Given the description of an element on the screen output the (x, y) to click on. 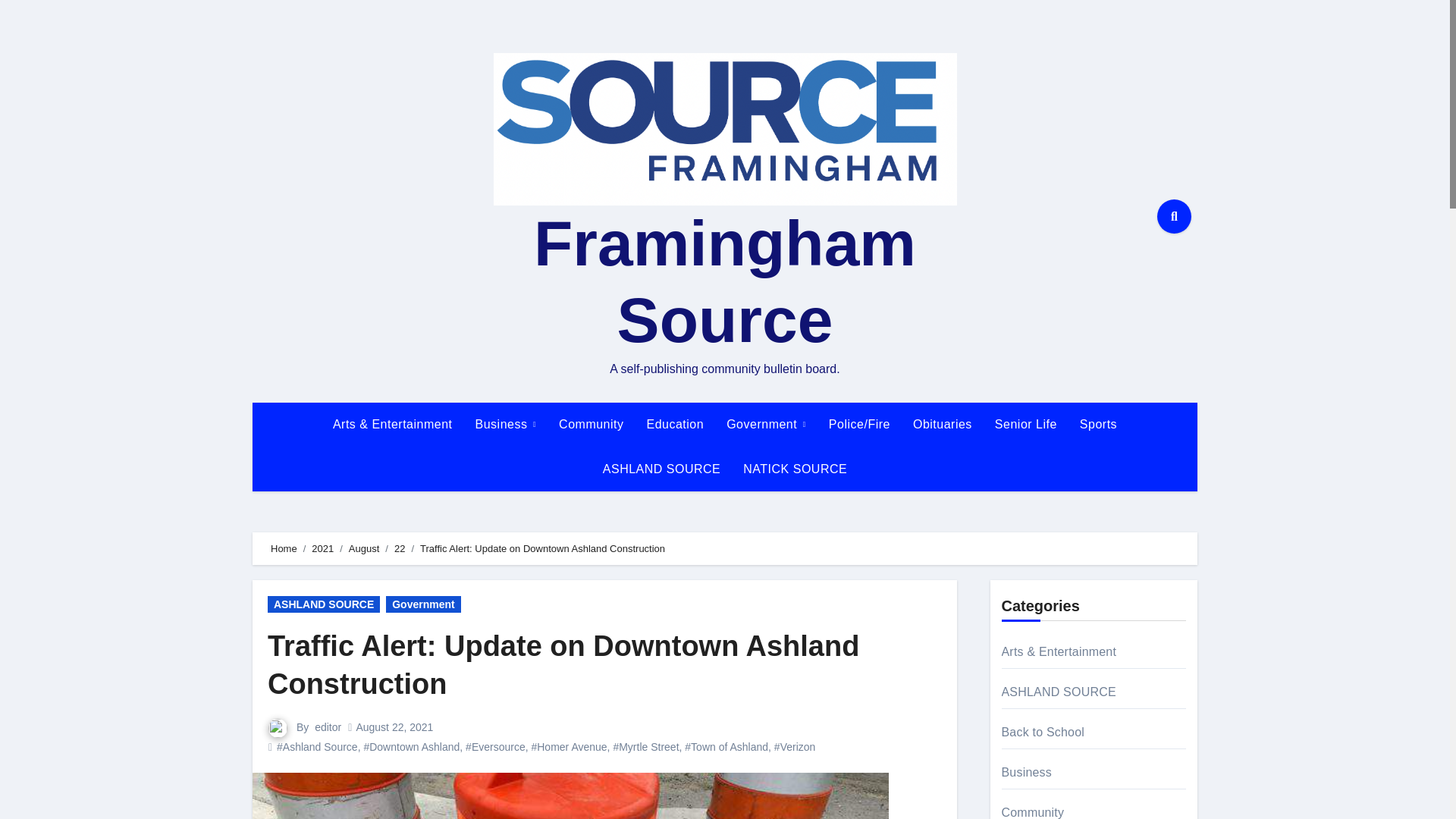
ASHLAND SOURCE (661, 469)
Sports (1098, 424)
editor (327, 727)
Home (283, 548)
Government (765, 424)
Obituaries (942, 424)
Community (590, 424)
Sports (1098, 424)
Government (422, 604)
NATICK SOURCE (795, 469)
ASHLAND SOURCE (661, 469)
Senior Life (1026, 424)
Framingham Source (724, 281)
2021 (322, 548)
Community (590, 424)
